Given the description of an element on the screen output the (x, y) to click on. 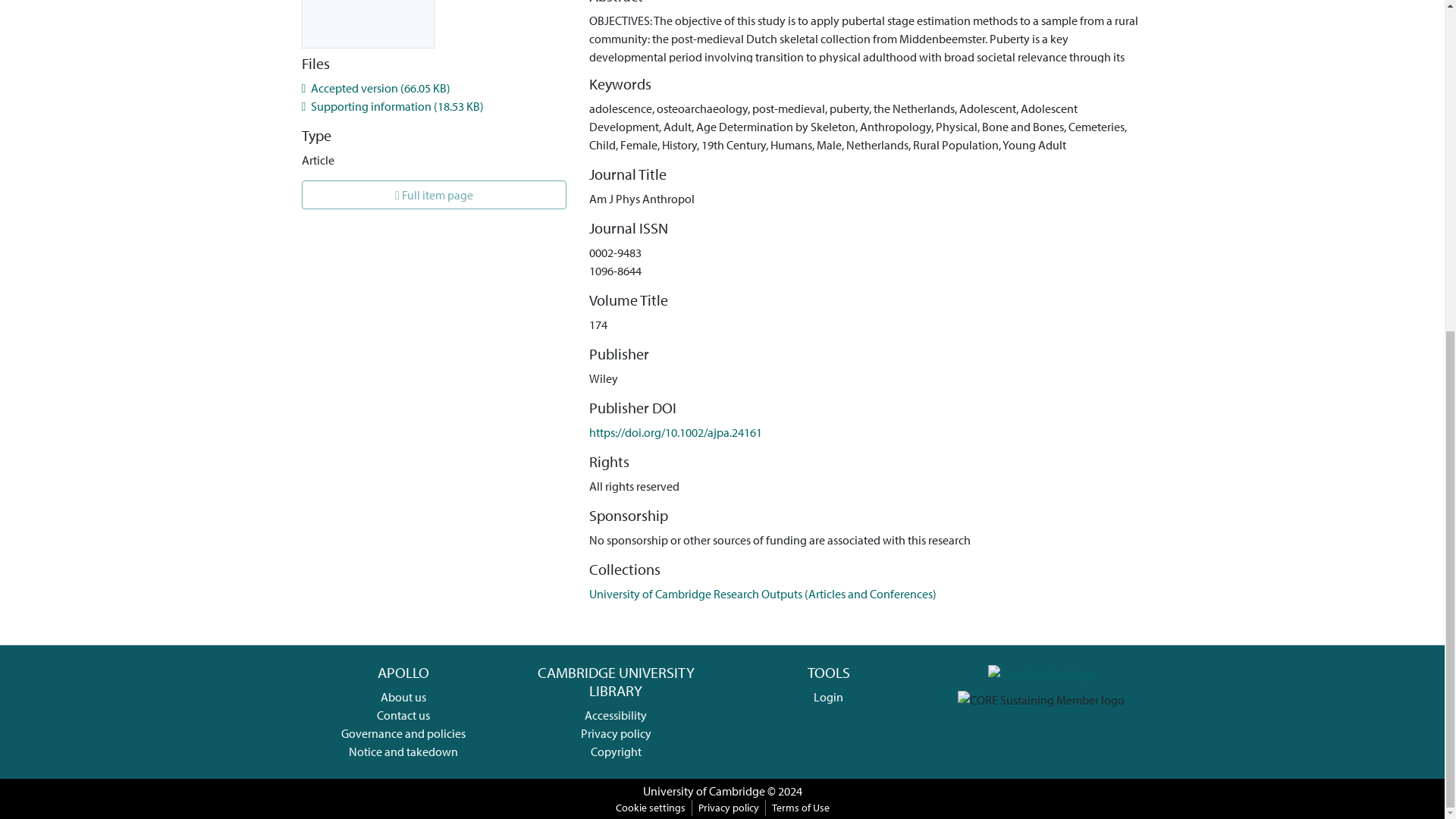
Apollo CTS full application (1041, 672)
About us (403, 696)
Governance and policies (402, 733)
Privacy policy (615, 733)
Accessibility (615, 714)
Contact us (403, 714)
Notice and takedown (403, 751)
Full item page (434, 194)
